Given the description of an element on the screen output the (x, y) to click on. 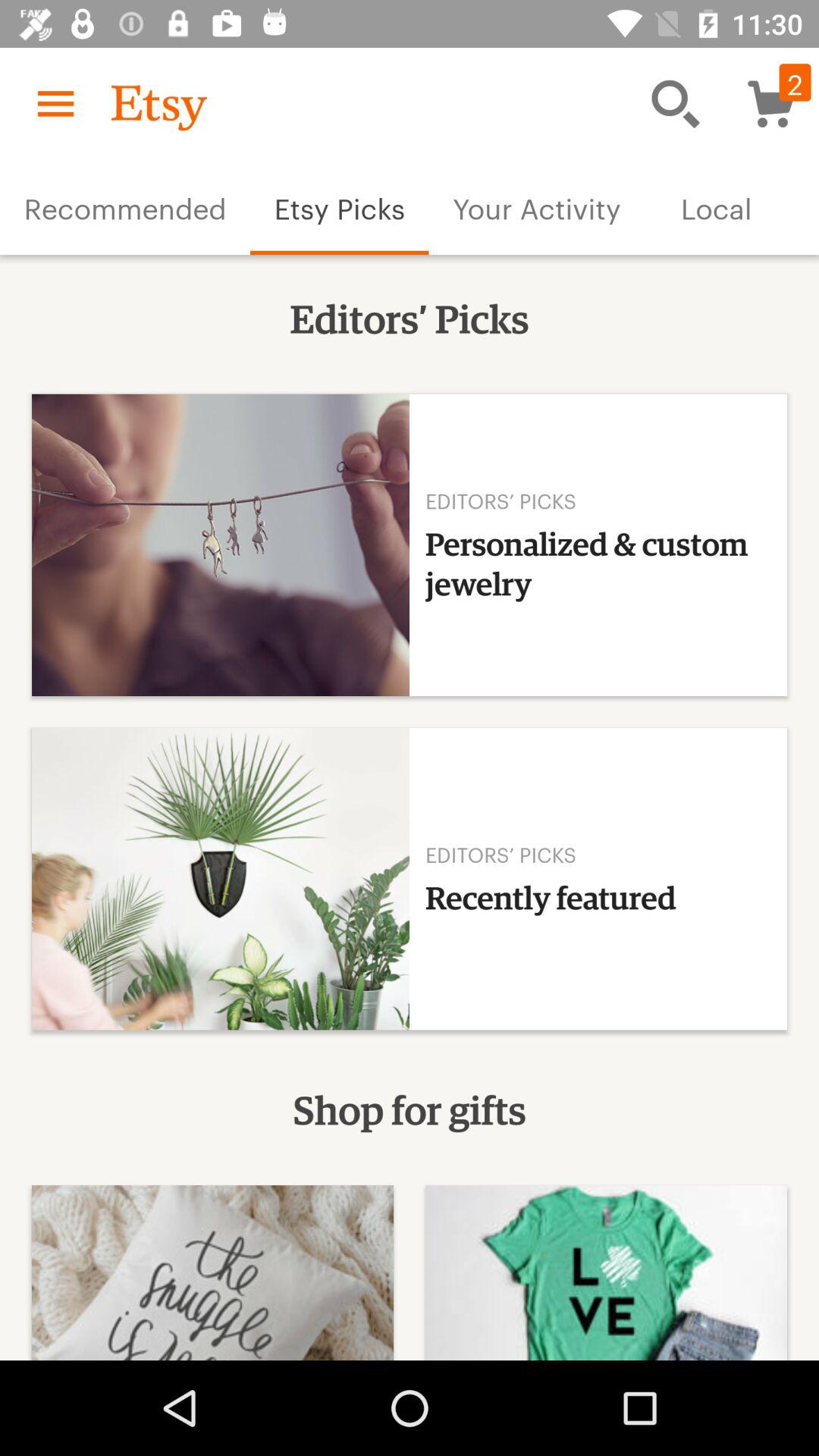
click item above the your activity icon (675, 103)
